Given the description of an element on the screen output the (x, y) to click on. 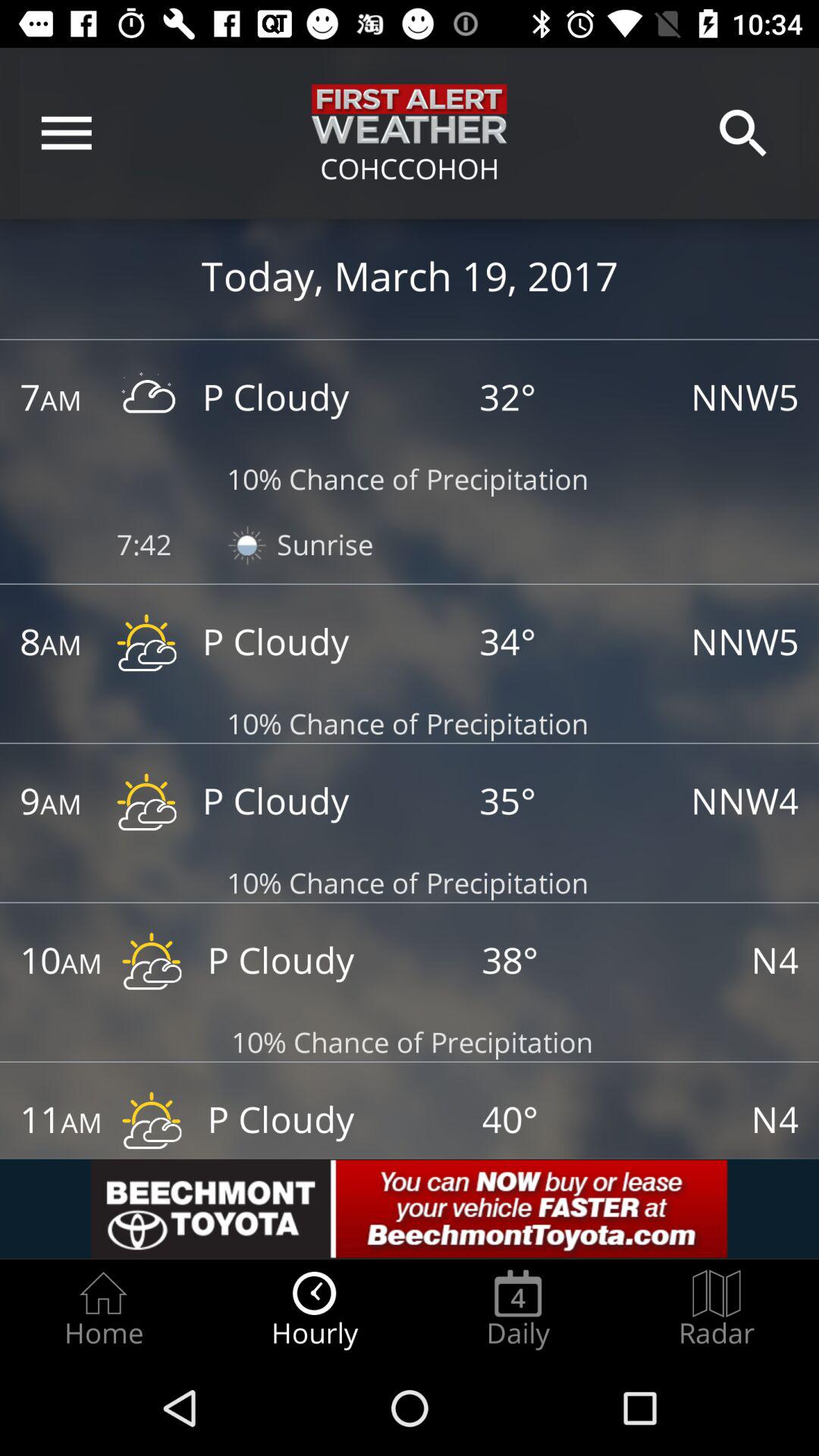
advertisement (409, 1208)
